Given the description of an element on the screen output the (x, y) to click on. 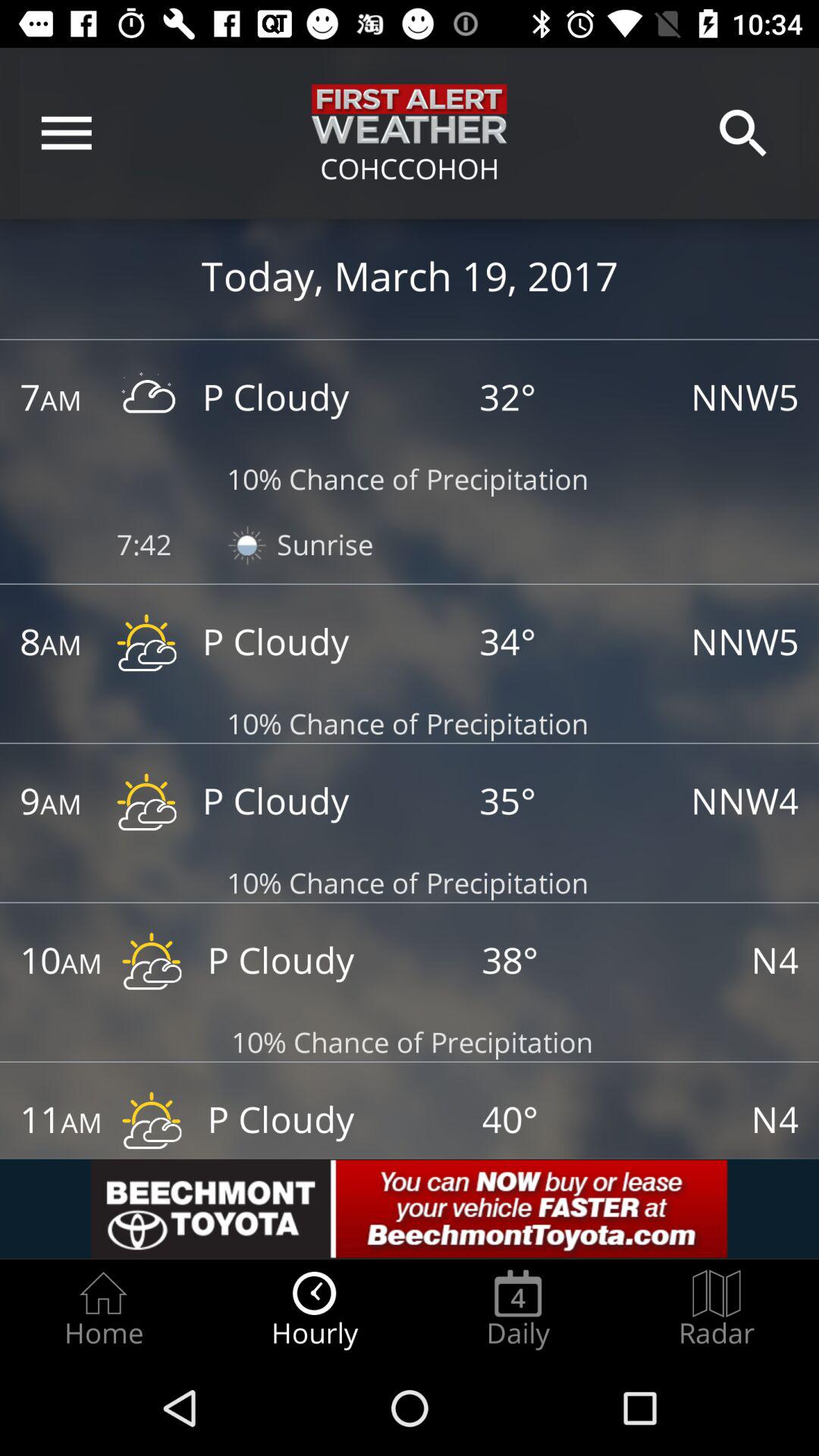
advertisement (409, 1208)
